Given the description of an element on the screen output the (x, y) to click on. 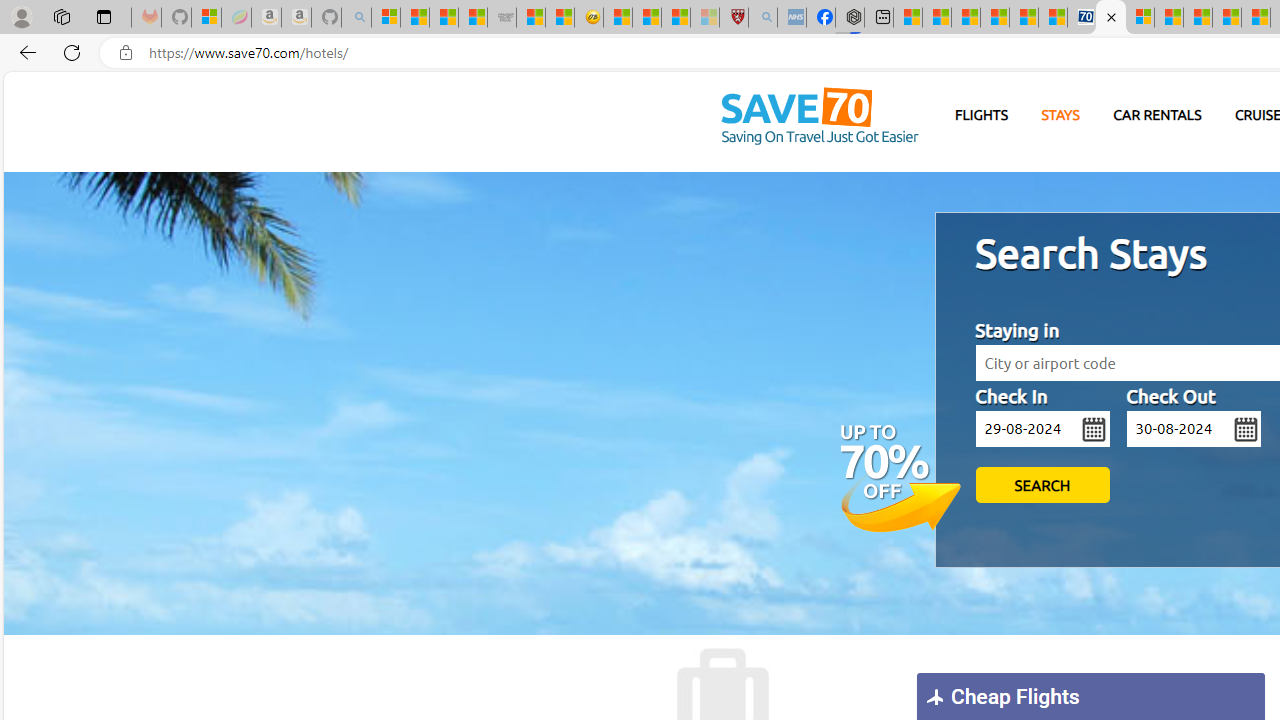
Recipes - MSN (618, 17)
CAR RENTALS (1157, 115)
mm/dd/yy (1193, 429)
STAYS (1060, 115)
